Given the description of an element on the screen output the (x, y) to click on. 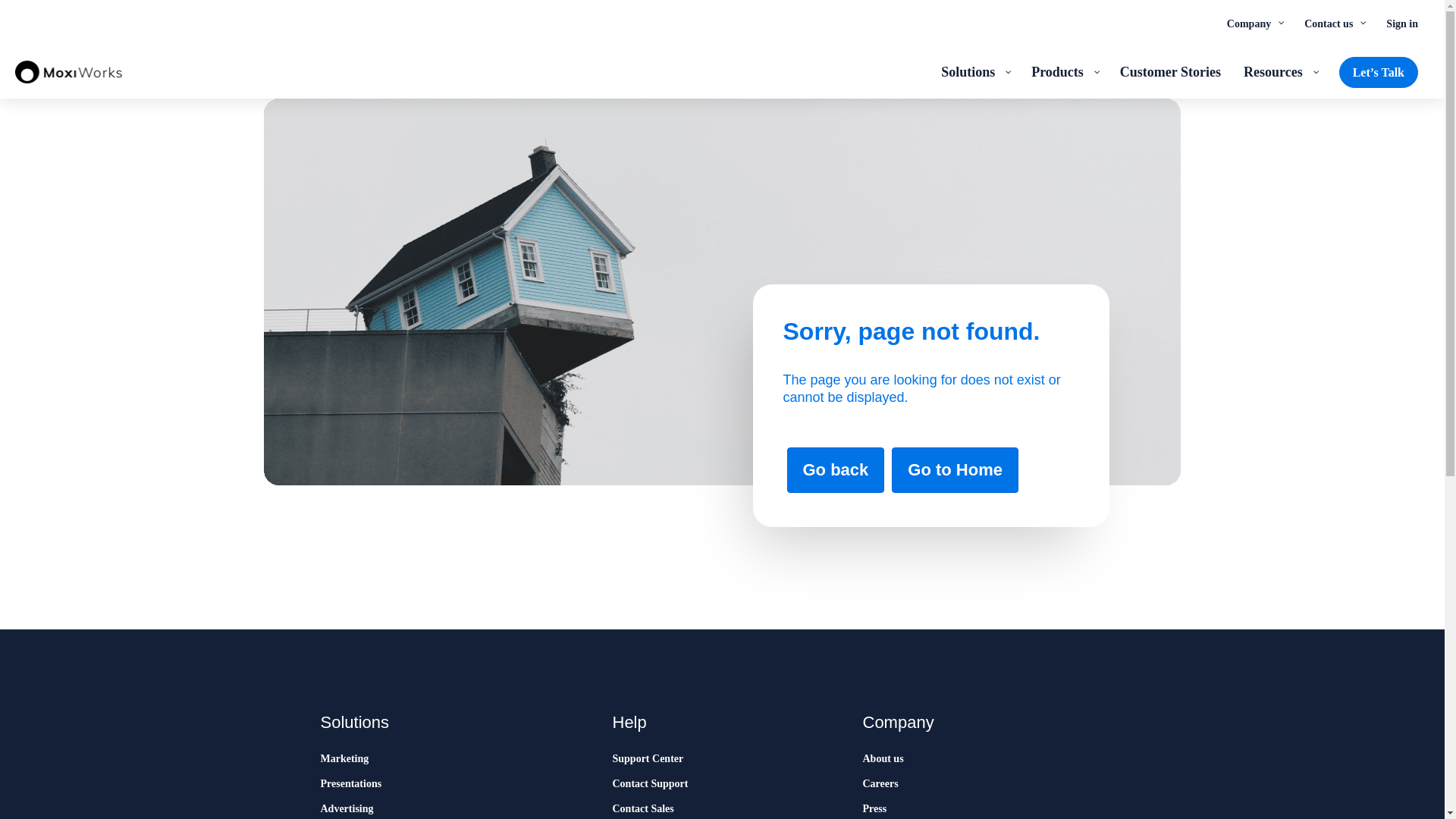
Contact us (1333, 22)
Sign in (1401, 22)
Company (1253, 22)
Solutions (975, 72)
Products (1064, 72)
